Given the description of an element on the screen output the (x, y) to click on. 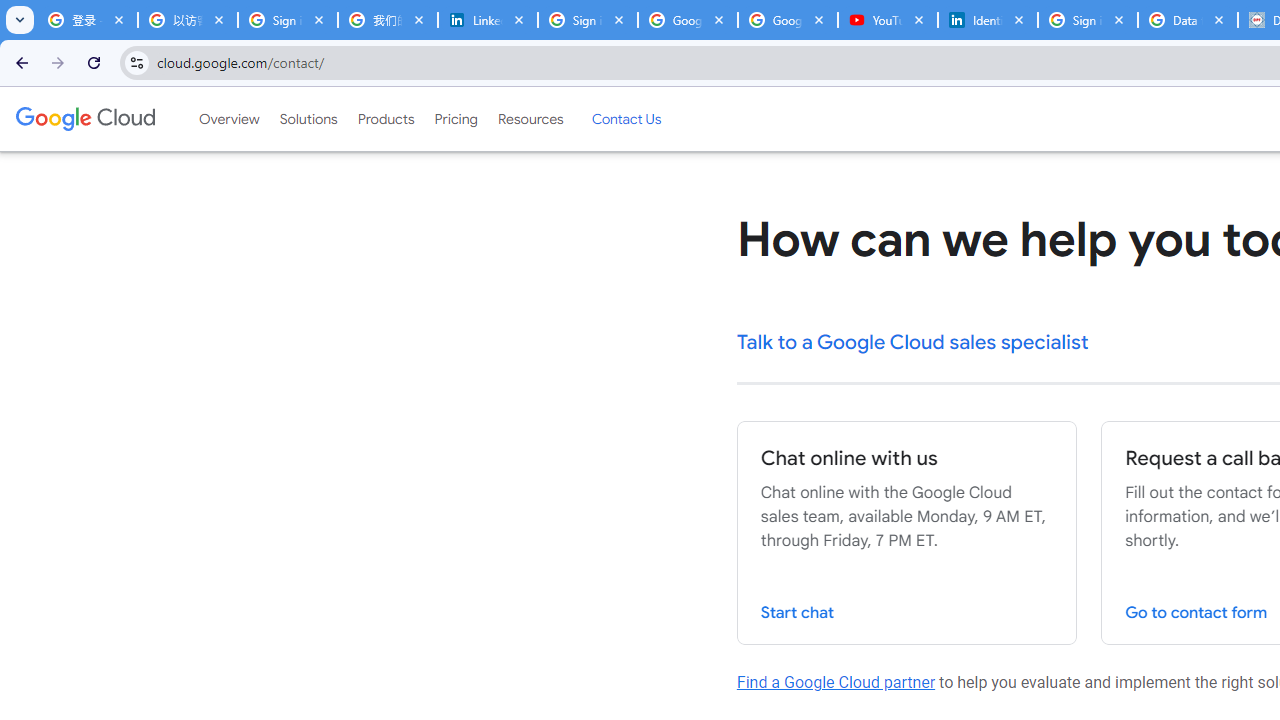
Pricing (455, 119)
Solutions (308, 119)
Google Cloud (84, 118)
Products (385, 119)
Contact Us (626, 119)
Identity verification via Persona | LinkedIn Help (988, 20)
Sign in - Google Accounts (1087, 20)
Resources (530, 119)
